Given the description of an element on the screen output the (x, y) to click on. 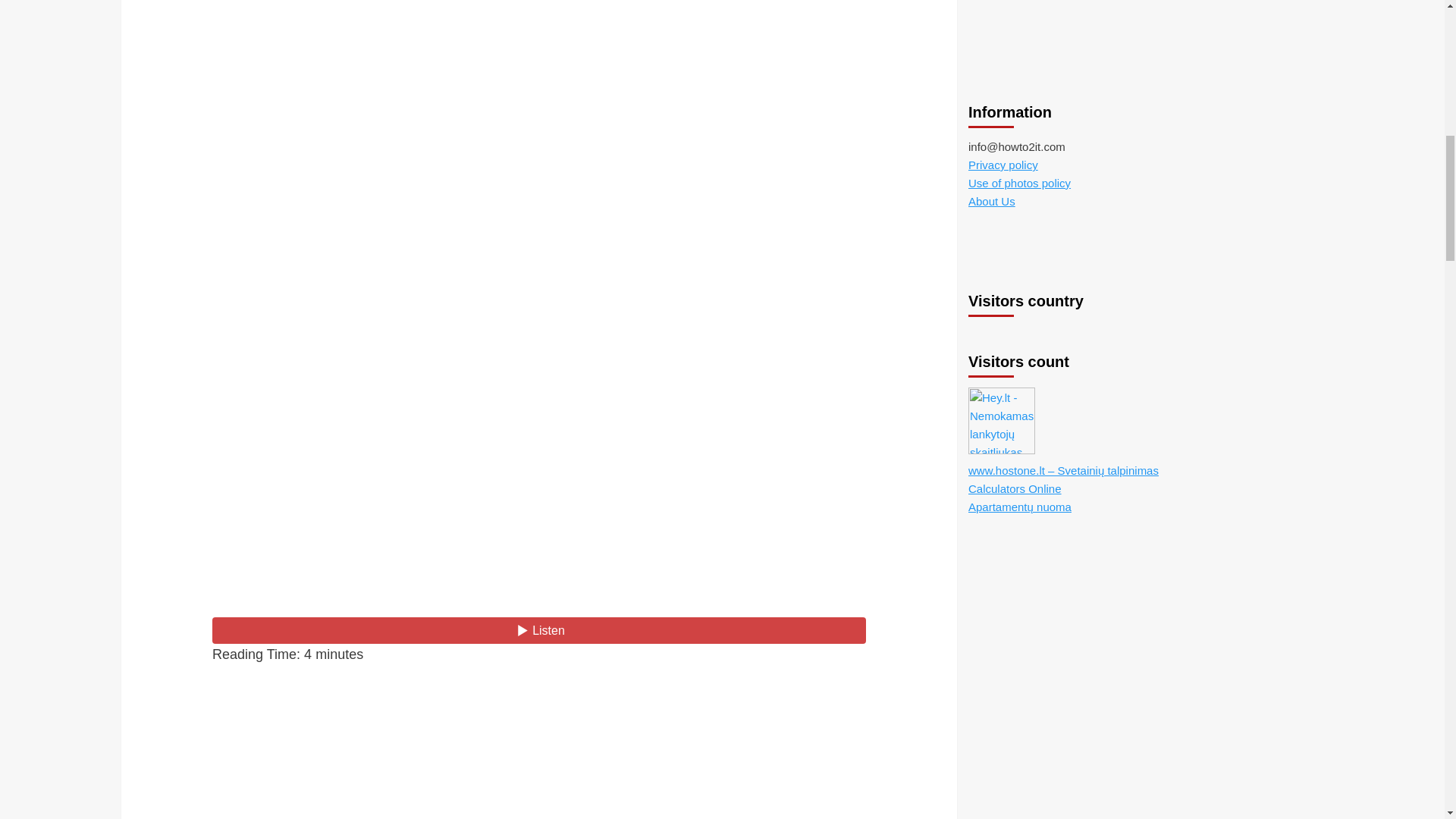
Listen (539, 630)
Online Calculators - Infolaikas (1014, 83)
Text To Audio:  Tap to listen post. (539, 630)
